Given the description of an element on the screen output the (x, y) to click on. 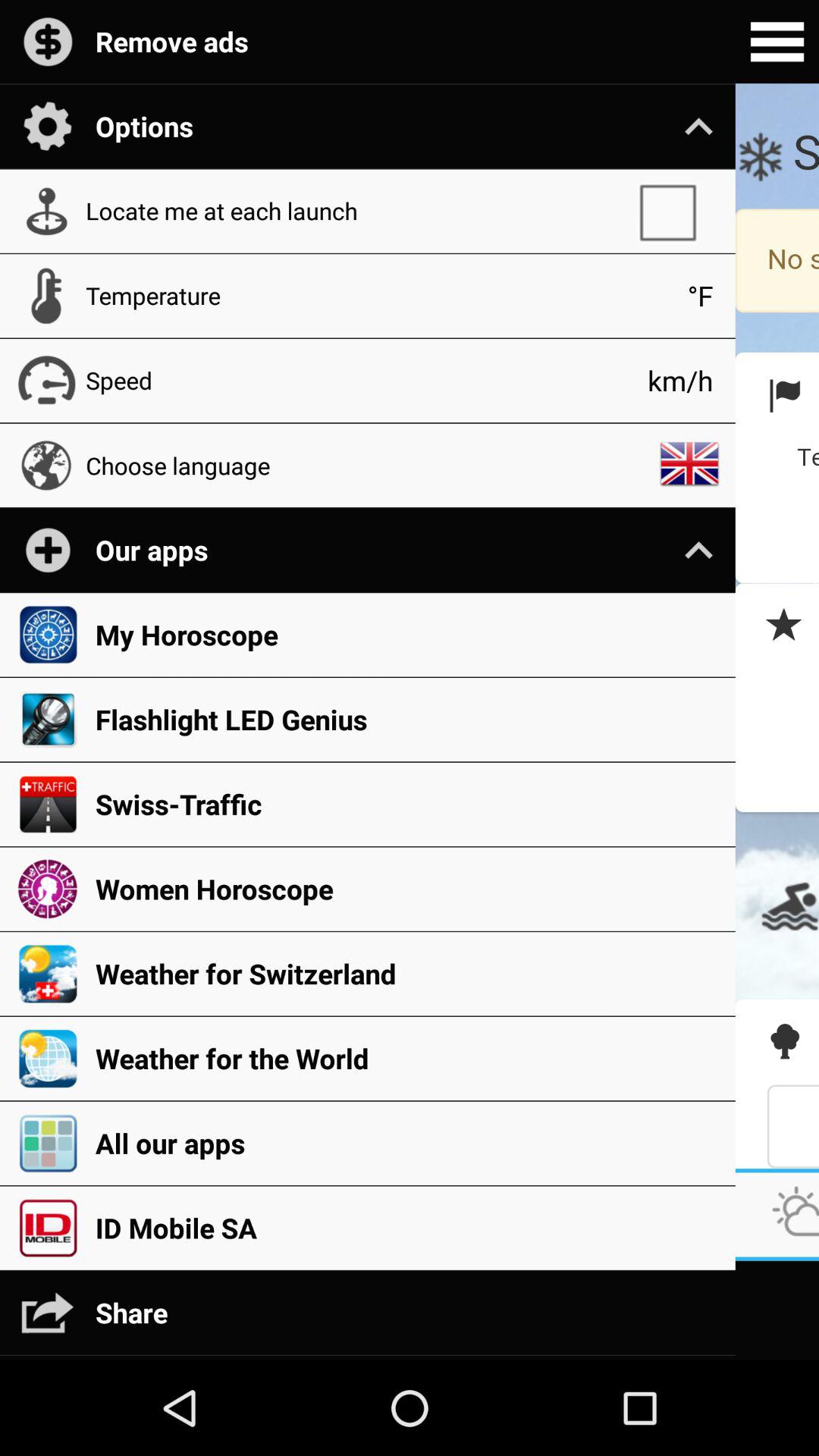
will reveal the weather alert (777, 625)
